Given the description of an element on the screen output the (x, y) to click on. 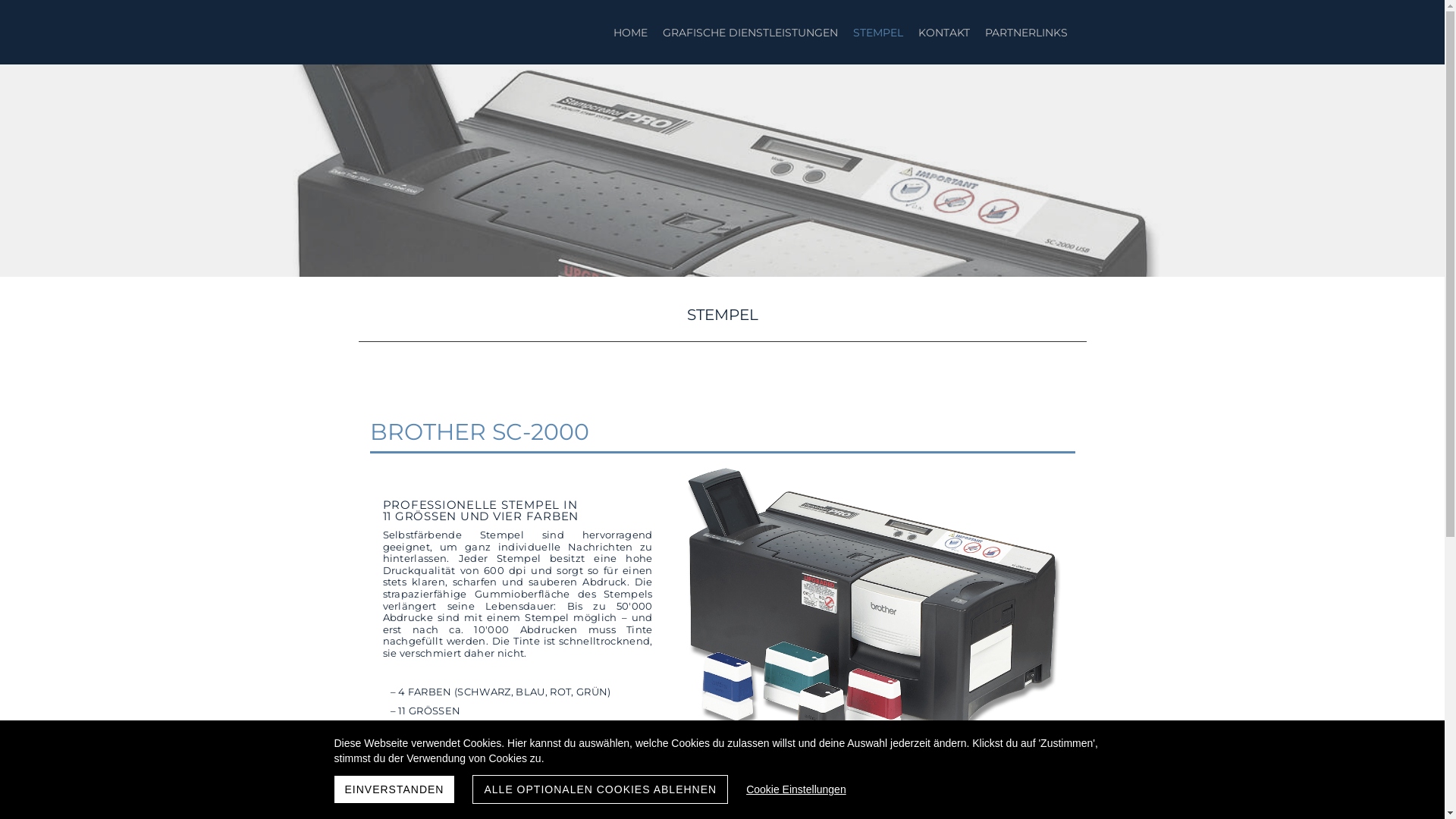
PARTNERLINKS Element type: text (1025, 32)
GRAFISCHE DIENSTLEISTUNGEN Element type: text (750, 32)
STEMPEL Element type: text (877, 32)
ALLE OPTIONALEN COOKIES ABLEHNEN Element type: text (600, 789)
KONTAKT Element type: text (943, 32)
Cookie Einstellungen Element type: text (796, 789)
EINVERSTANDEN Element type: text (393, 789)
HOME Element type: text (629, 32)
